Given the description of an element on the screen output the (x, y) to click on. 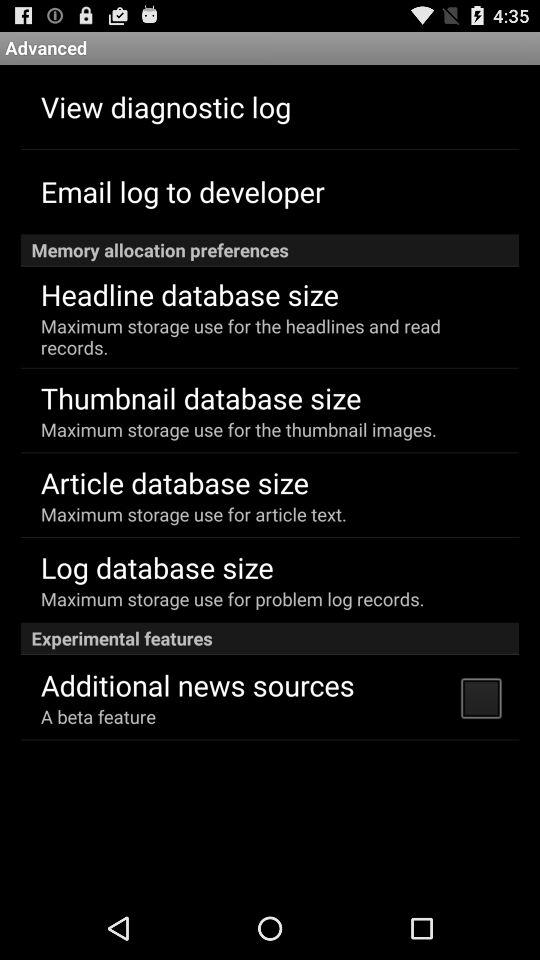
press the item below the maximum storage use (270, 638)
